Given the description of an element on the screen output the (x, y) to click on. 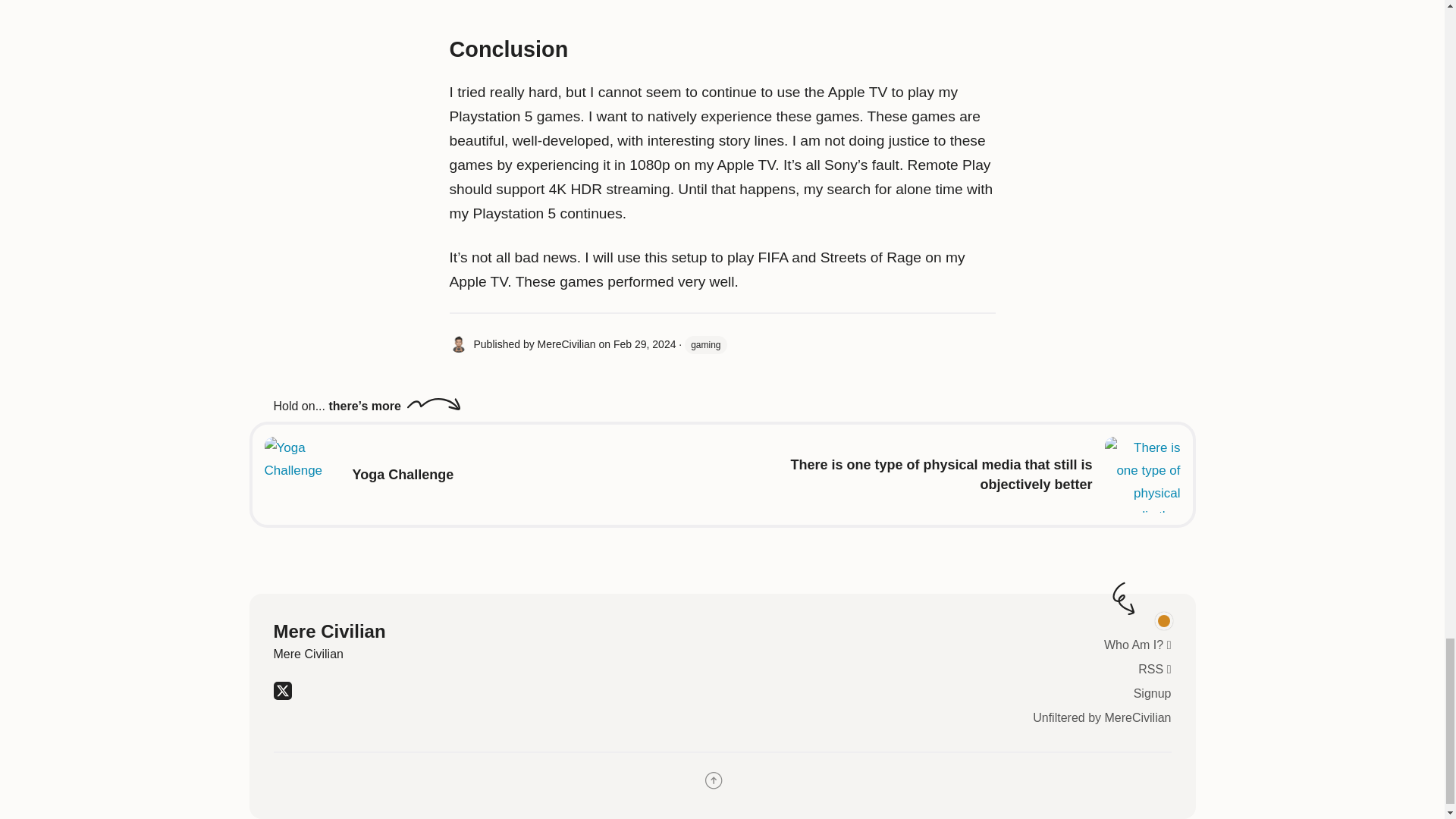
gaming (705, 344)
MereCivilian (566, 344)
gaming (705, 344)
Yoga Challenge (402, 474)
Signup (1153, 693)
Unfiltered by MereCivilian (1101, 717)
